Given the description of an element on the screen output the (x, y) to click on. 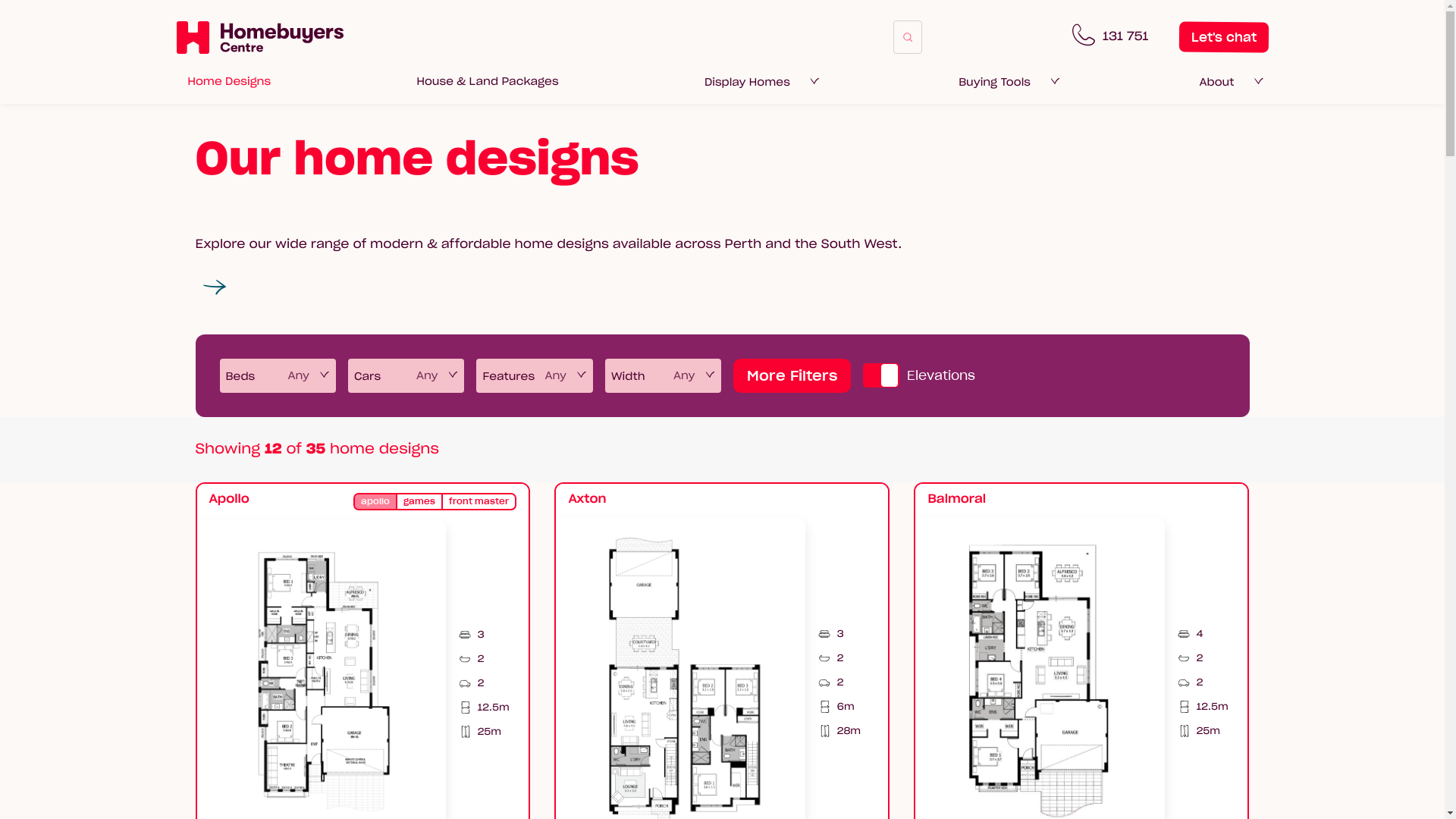
More Filters Element type: text (791, 375)
Home Designs Element type: text (228, 80)
Elevations Element type: text (918, 375)
Balmoral Element type: text (956, 498)
Axton Element type: text (586, 498)
House & Land Packages Element type: text (487, 80)
Apollo Element type: text (229, 498)
view variation
games Element type: text (419, 501)
Homebuyers Centre Element type: text (258, 36)
Buying Tools Element type: text (994, 81)
About Element type: text (1216, 81)
Let's chat Element type: text (1222, 36)
Submit Search Element type: text (907, 36)
131 751 Element type: text (1110, 36)
Display Homes Element type: text (747, 81)
Read more Element type: text (214, 288)
view variation
front master Element type: text (478, 501)
view variation
apollo Element type: text (374, 501)
